Given the description of an element on the screen output the (x, y) to click on. 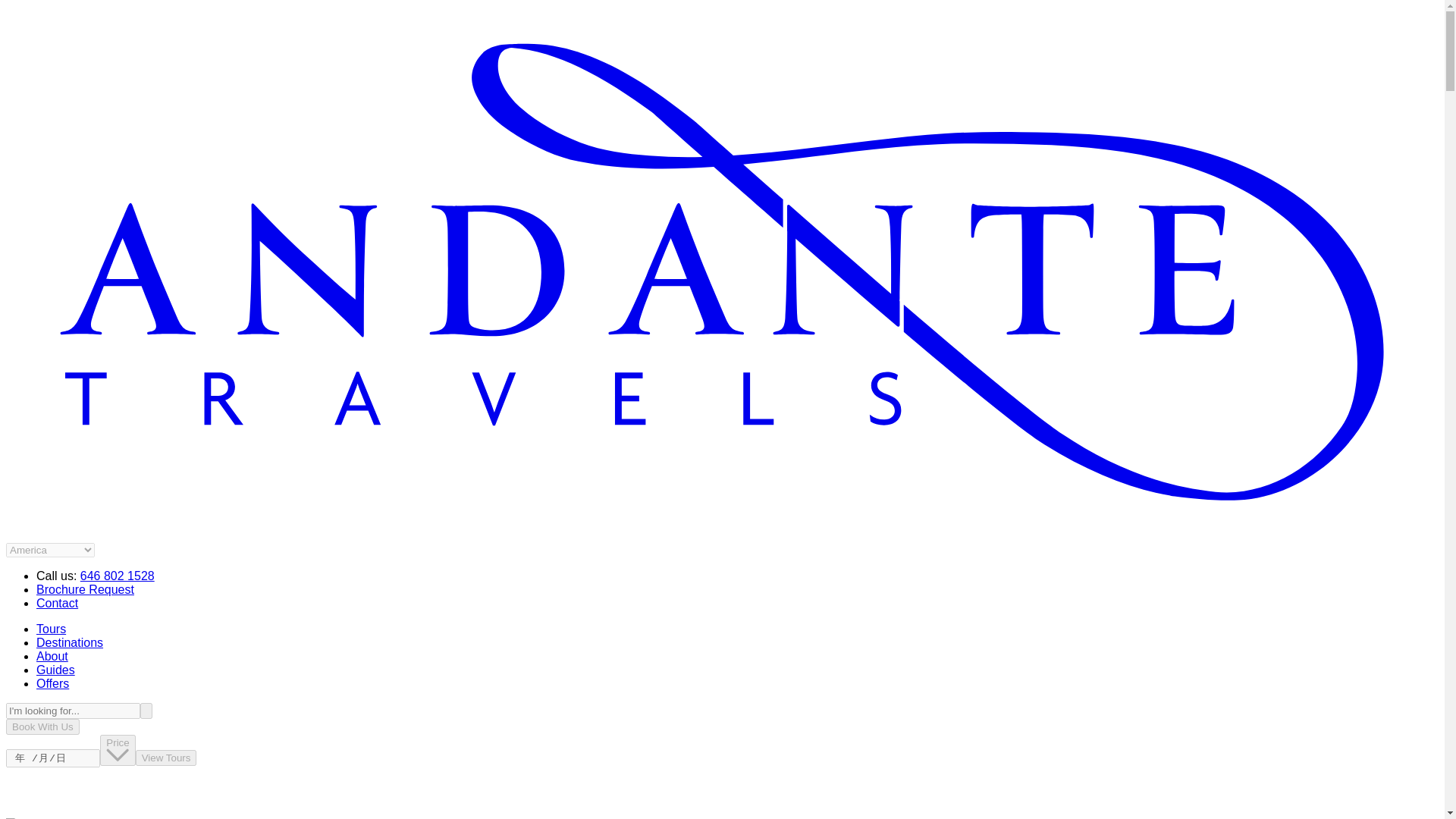
Book With Us (42, 726)
Brochure Request (84, 589)
Offers (52, 683)
Destinations (69, 642)
Contact (57, 603)
View Tours (165, 757)
Price (117, 749)
Guides (55, 669)
Tours (50, 628)
About (52, 656)
646 802 1528 (117, 575)
